Given the description of an element on the screen output the (x, y) to click on. 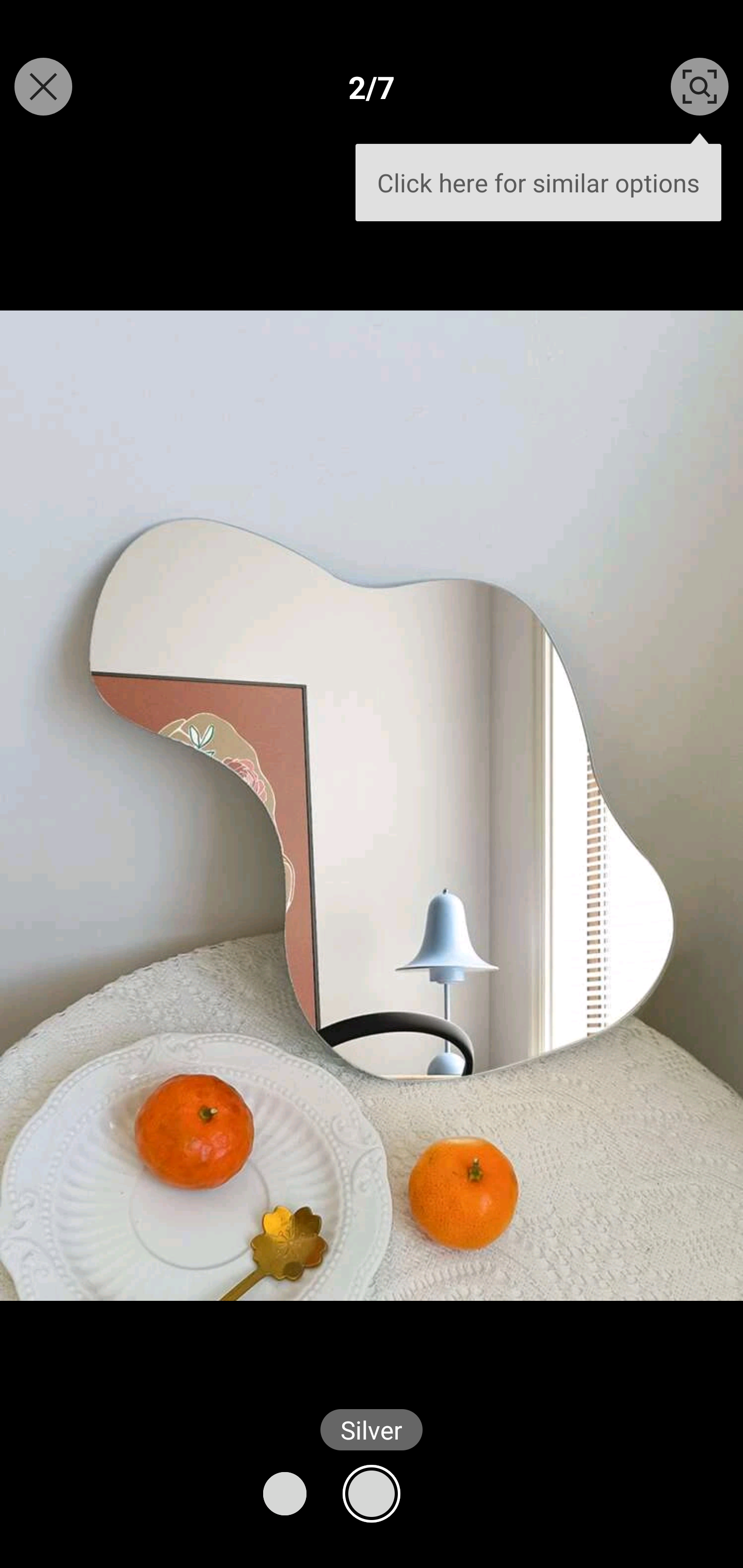
Click here for similar options (538, 173)
